Given the description of an element on the screen output the (x, y) to click on. 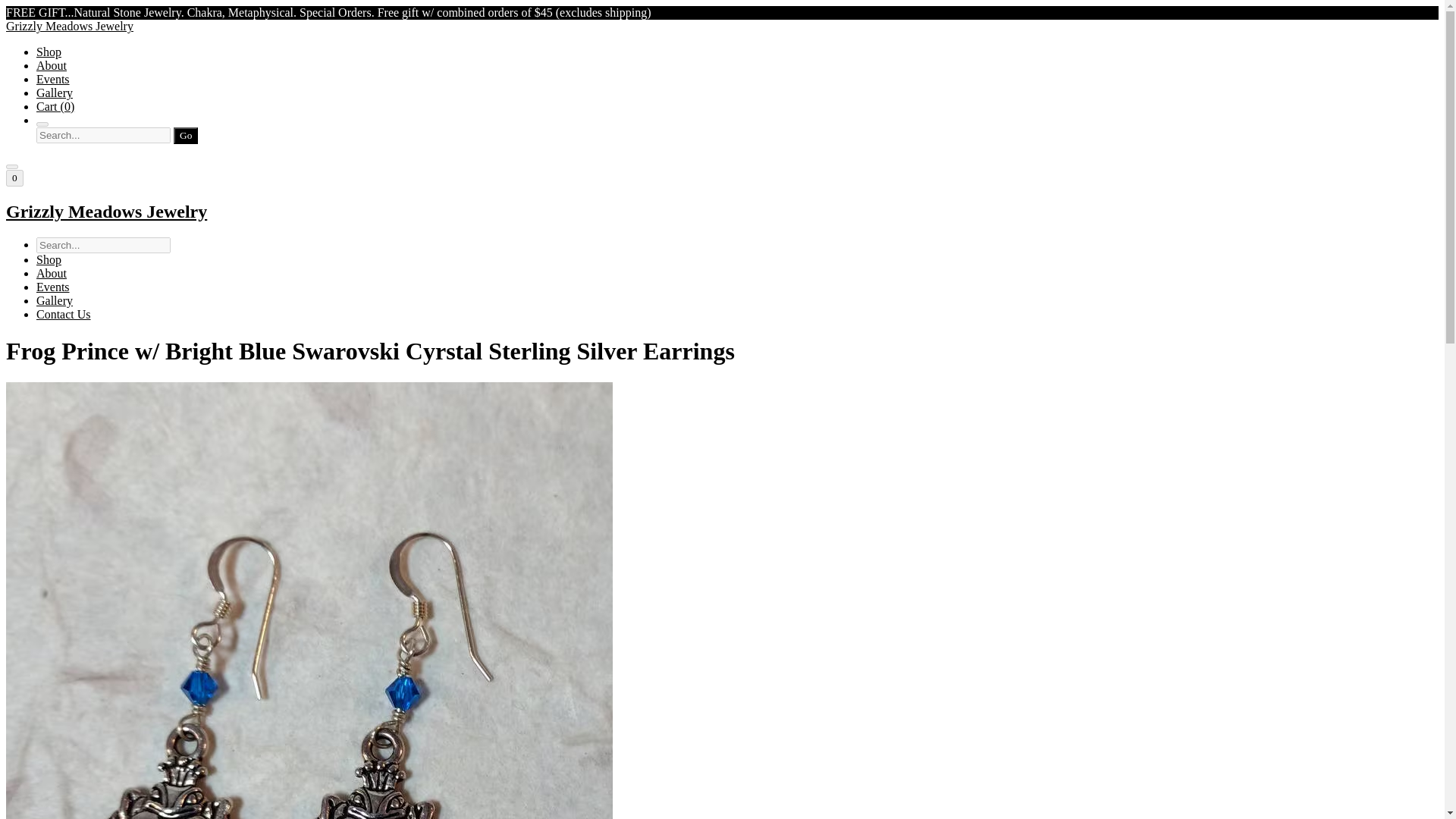
Shop (48, 259)
Shop (48, 51)
Go (185, 135)
About (51, 65)
About (51, 273)
Events (52, 78)
Gallery (54, 300)
Gallery (54, 92)
Events (52, 286)
Go (185, 135)
0 (14, 177)
Contact Us (63, 314)
